Given the description of an element on the screen output the (x, y) to click on. 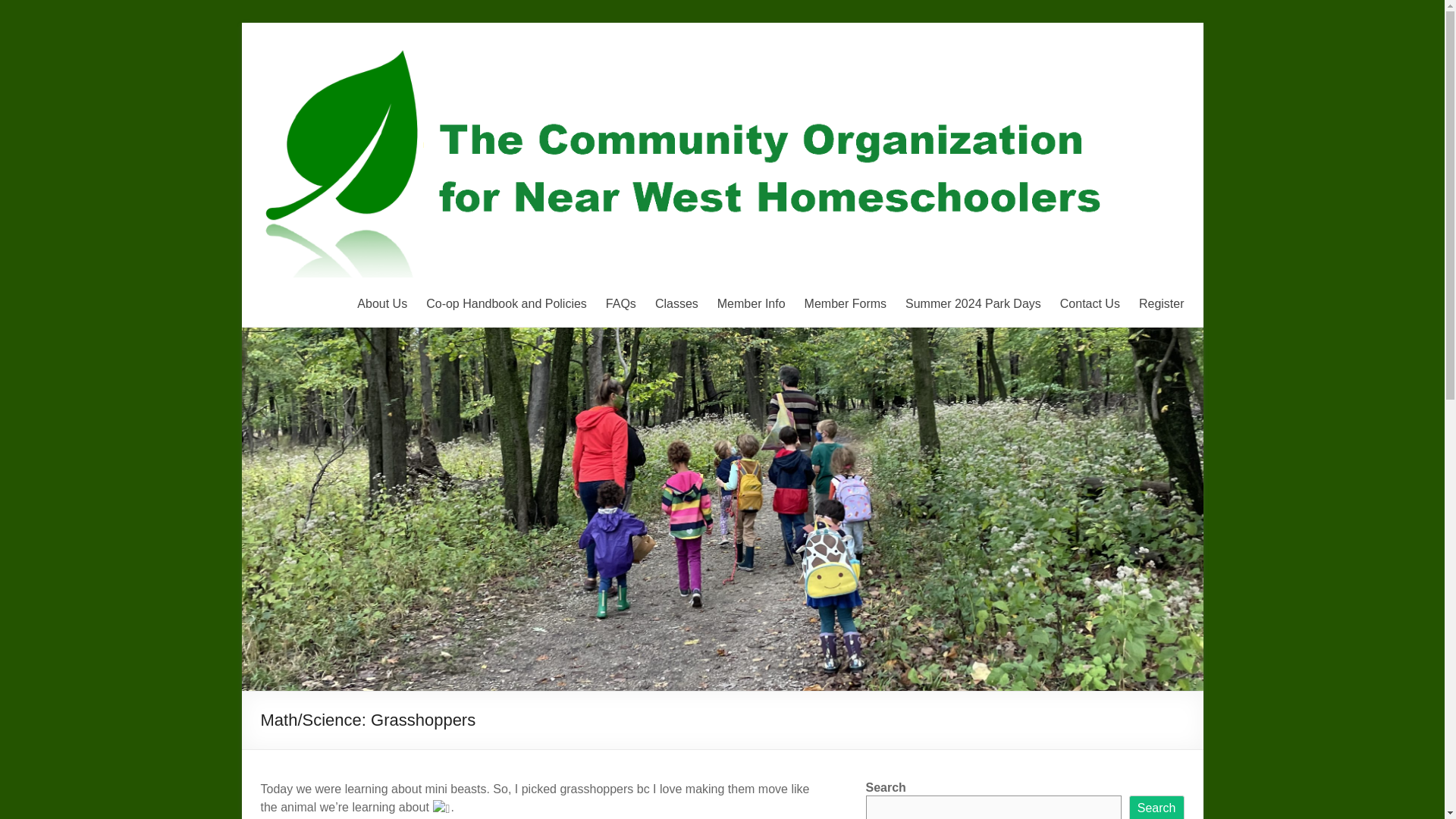
Community Organization for Near West Homeschoolers (353, 125)
Contact Us (1089, 303)
Classes (676, 303)
About Us (381, 303)
Co-op Handbook and Policies (506, 303)
Register (1161, 303)
FAQs (620, 303)
Member Info (751, 303)
Summer 2024 Park Days (973, 303)
